Given the description of an element on the screen output the (x, y) to click on. 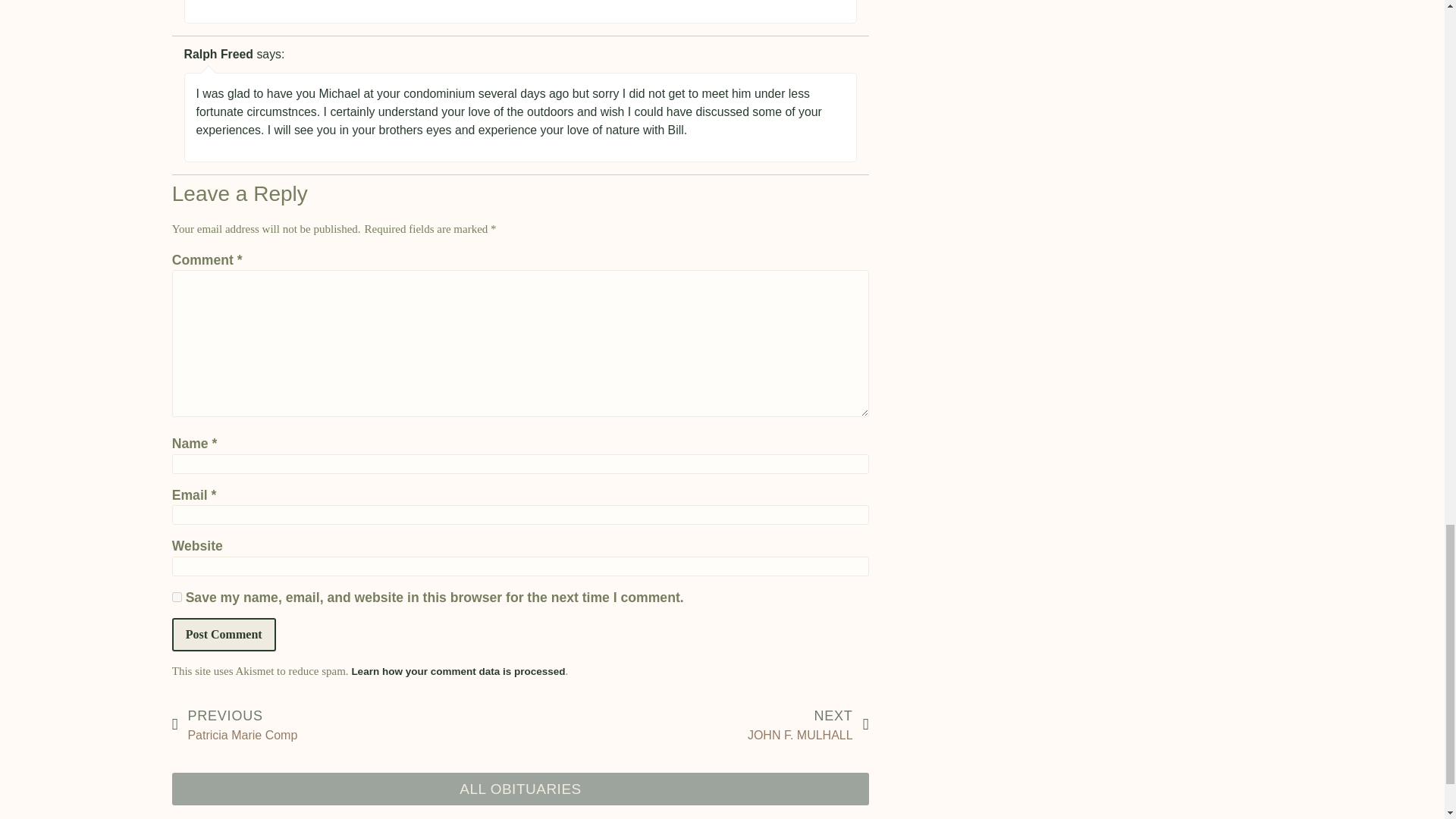
ALL OBITUARIES (520, 789)
yes (176, 596)
Post Comment (223, 634)
Post Comment (345, 724)
Learn how your comment data is processed (223, 634)
